Given the description of an element on the screen output the (x, y) to click on. 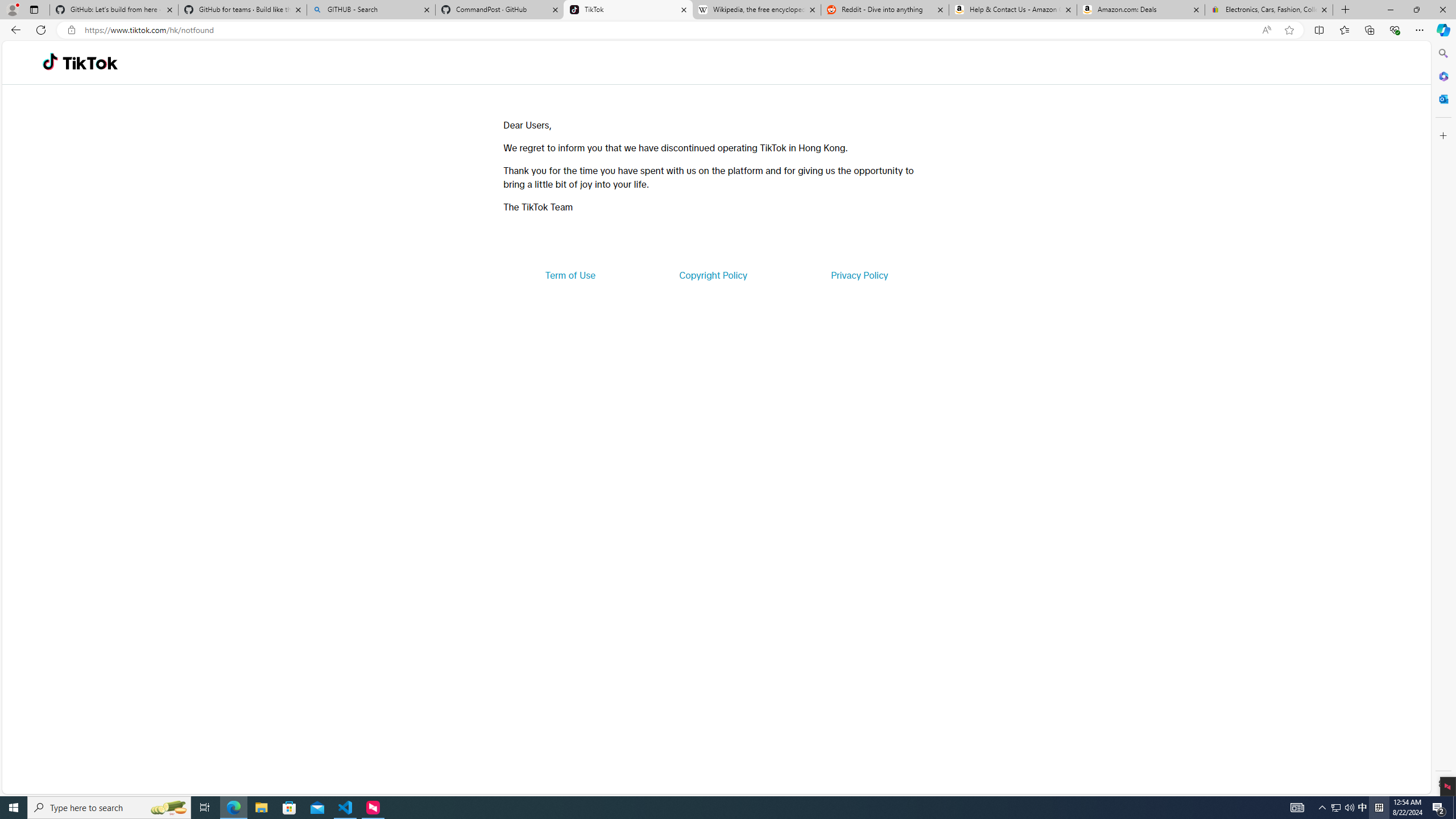
Term of Use (569, 274)
Wikipedia, the free encyclopedia (756, 9)
Copyright Policy (712, 274)
Help & Contact Us - Amazon Customer Service (1012, 9)
